Given the description of an element on the screen output the (x, y) to click on. 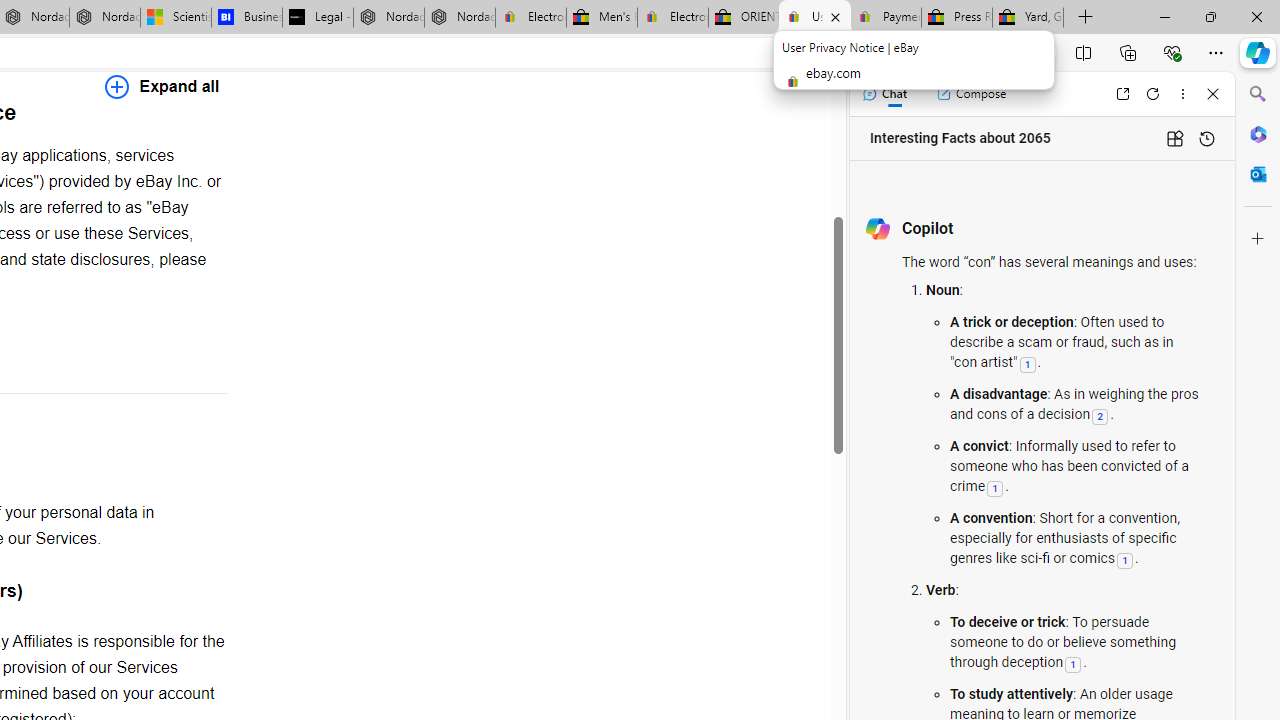
Chat (884, 93)
Compose (971, 93)
Press Room - eBay Inc. (956, 17)
